Given the description of an element on the screen output the (x, y) to click on. 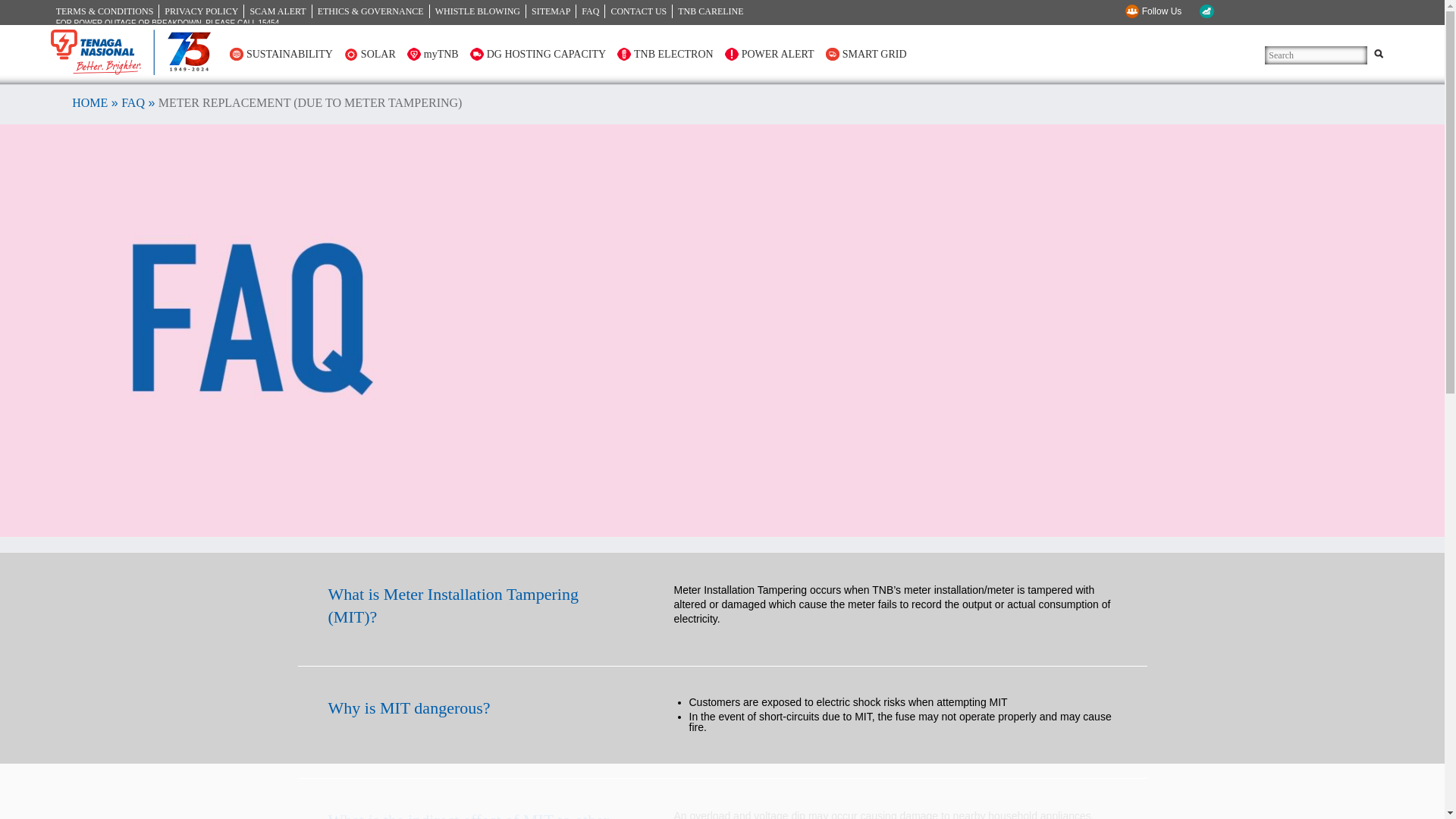
HOME (89, 102)
SCAM ALERT (277, 11)
FAQ (132, 102)
WHISTLE BLOWING (477, 11)
POWER ALERT (769, 53)
SOLAR (369, 53)
SMART GRID (866, 53)
PRIVACY POLICY (201, 11)
SITEMAP (550, 11)
TNB ELECTRON (665, 53)
